Given the description of an element on the screen output the (x, y) to click on. 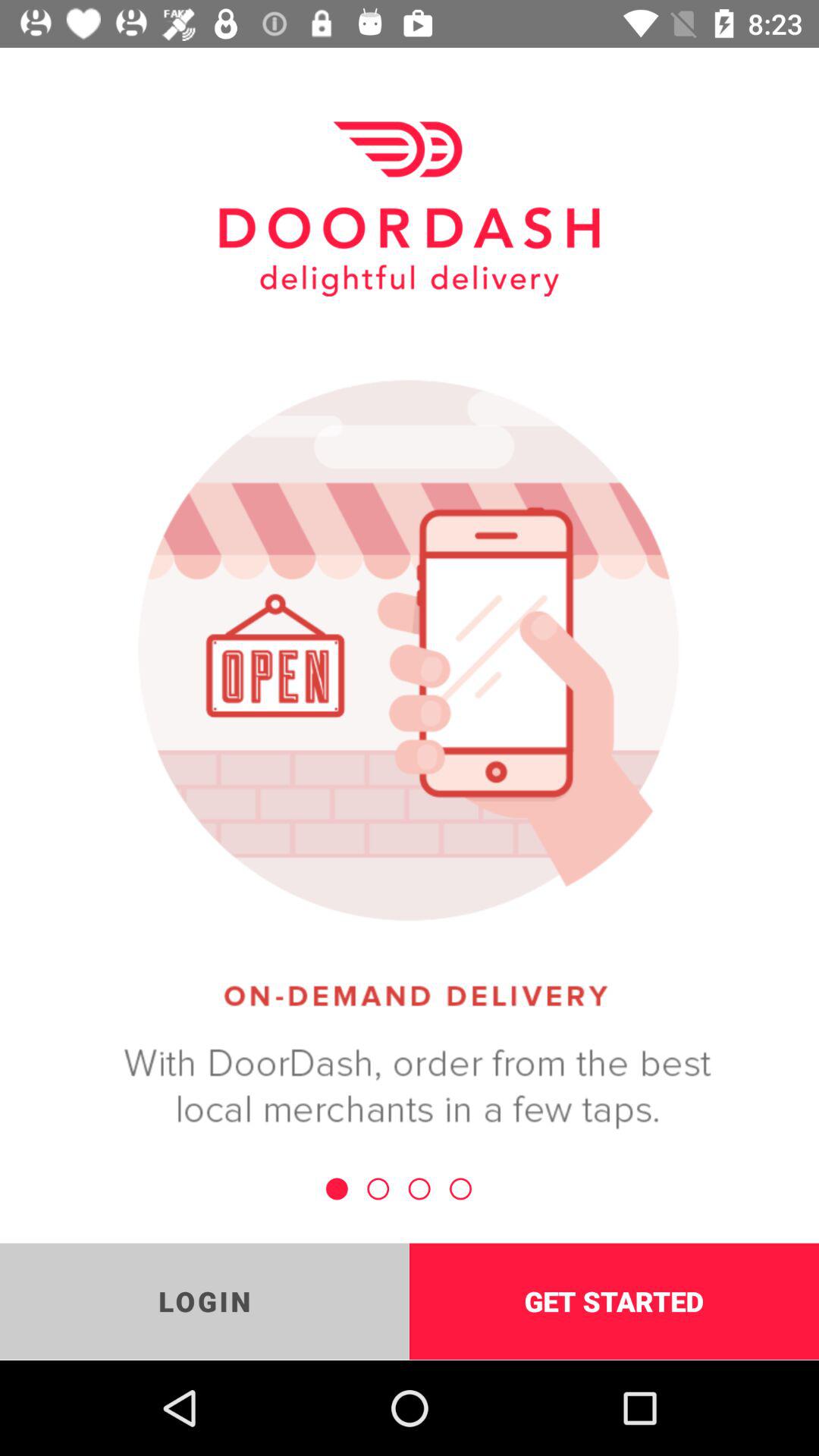
swipe to get started item (614, 1301)
